Given the description of an element on the screen output the (x, y) to click on. 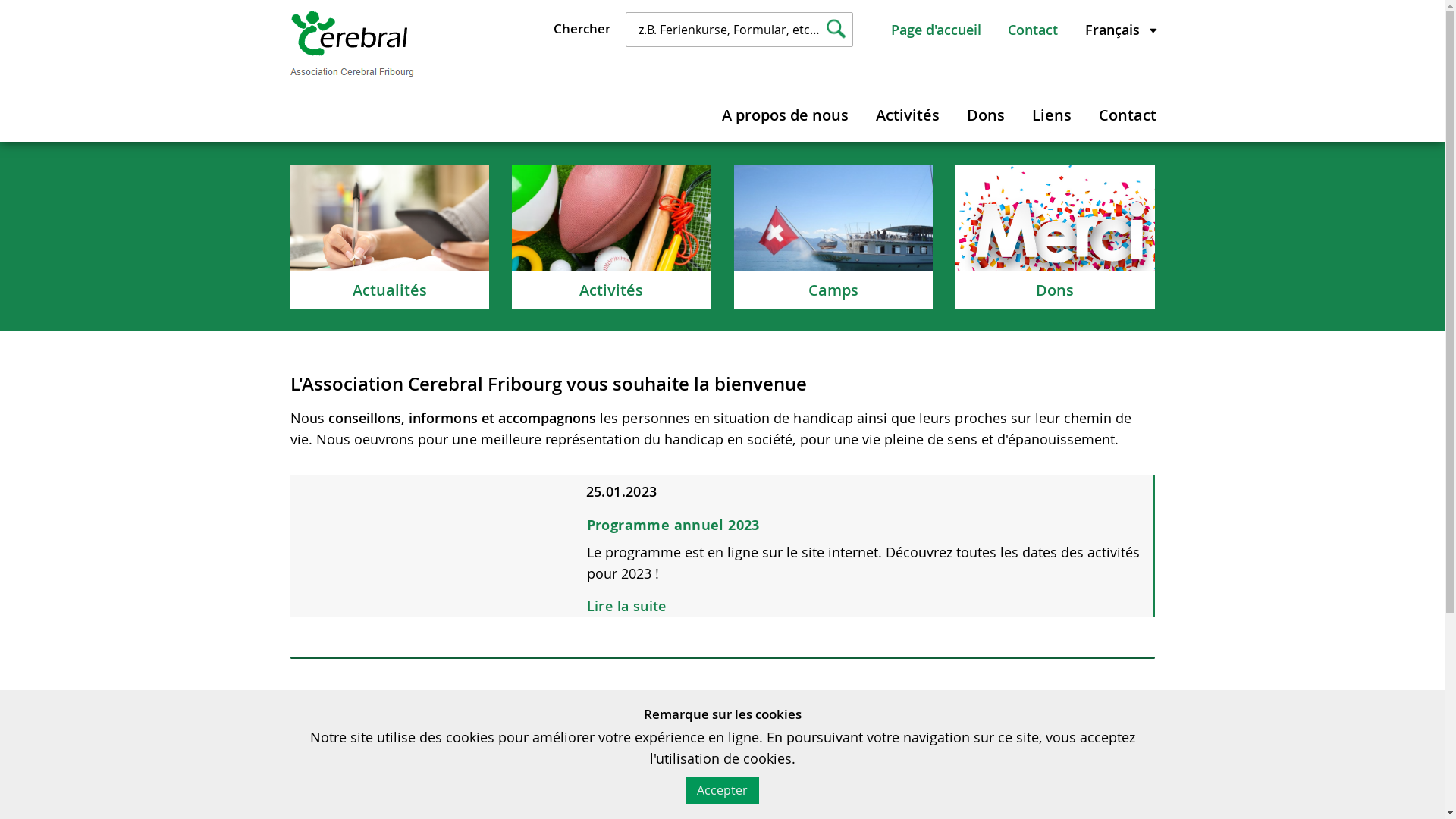
Dons Element type: text (985, 112)
Dons Element type: text (1054, 236)
Liens Element type: text (1051, 112)
Contact Element type: text (1032, 29)
Accepter Element type: text (722, 789)
Page d'accueil Element type: text (936, 29)
Contact Element type: text (1127, 112)
A propos de nous Element type: text (784, 112)
